Given the description of an element on the screen output the (x, y) to click on. 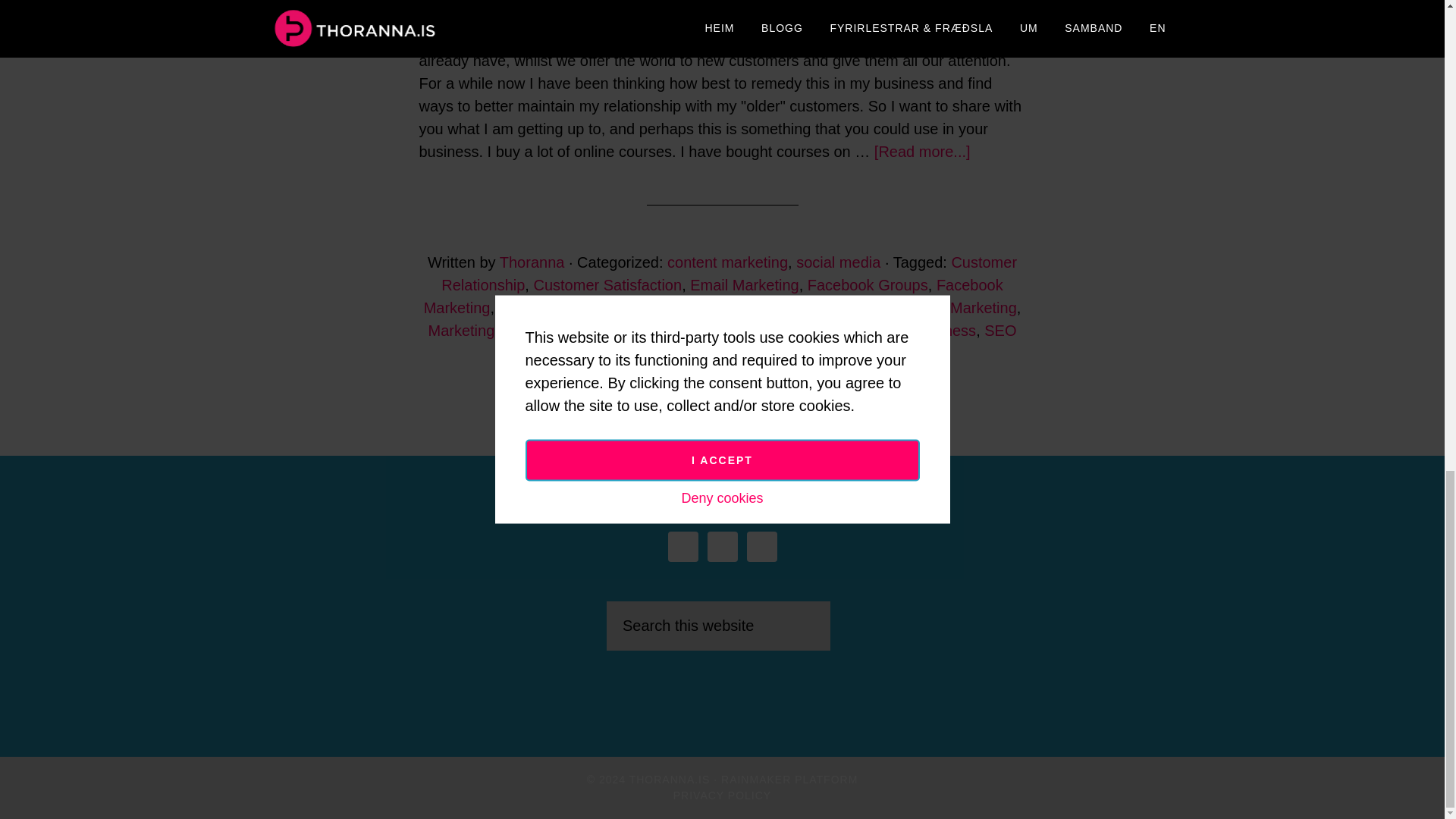
PRIVACY POLICY (721, 795)
Customer Satisfaction (606, 284)
LinkedIn Marketing (952, 307)
Pinterest Marketing (786, 330)
Facebook Groups (868, 284)
Facebook Marketing (713, 296)
Marketing (461, 330)
LinkedIn Groups (824, 307)
